Given the description of an element on the screen output the (x, y) to click on. 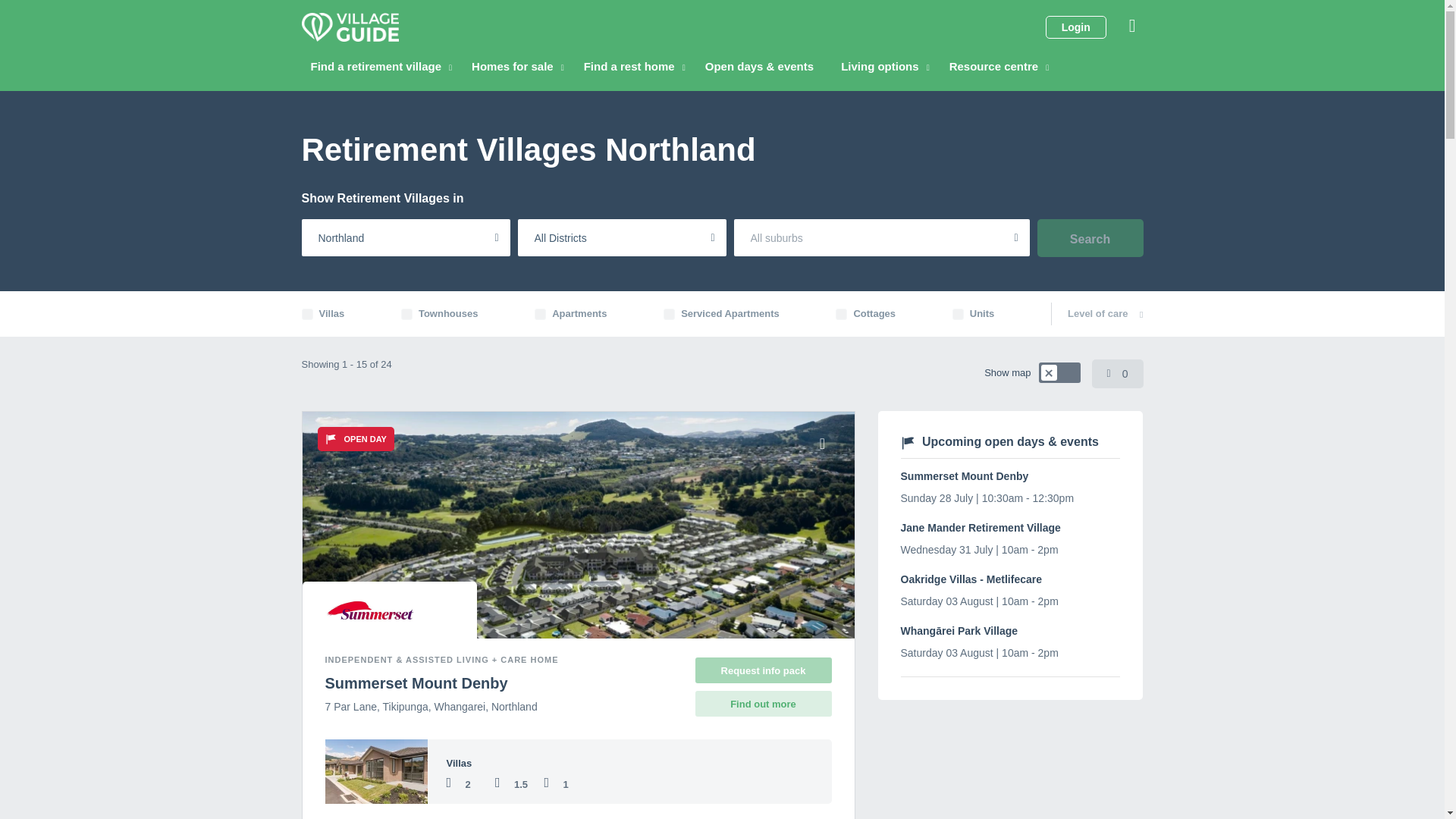
Living options (885, 67)
Level of care (1104, 314)
Search (1089, 238)
Find a rest home (634, 67)
Find out more (762, 703)
Login (1075, 26)
All Districts (620, 237)
3rd party ad content (1010, 770)
Resource centre (999, 67)
Homes for sale (518, 67)
Find a retirement village (381, 67)
Favourite (821, 443)
Northland (406, 237)
Request info pack (577, 771)
